Given the description of an element on the screen output the (x, y) to click on. 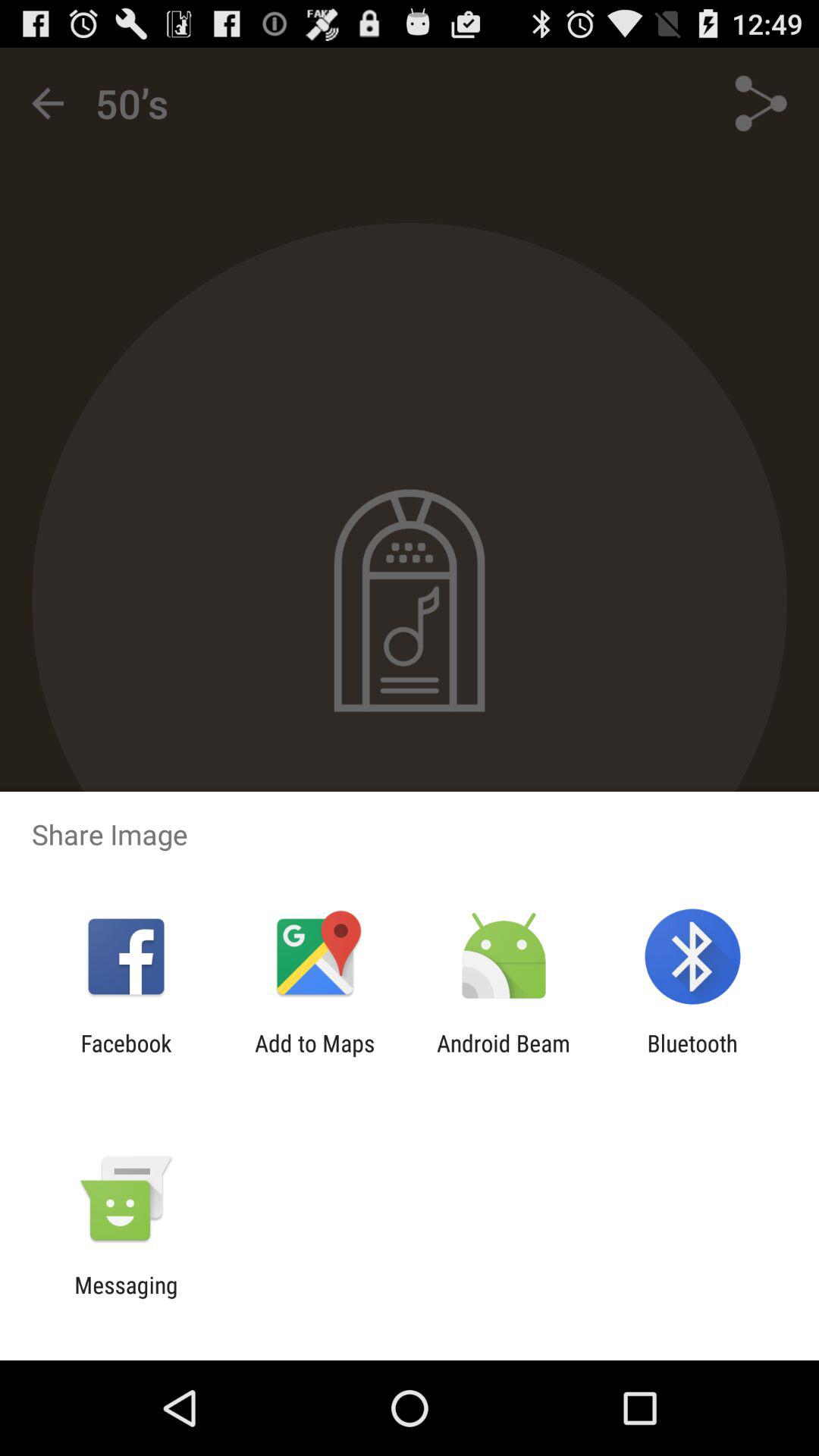
swipe to bluetooth icon (692, 1056)
